Given the description of an element on the screen output the (x, y) to click on. 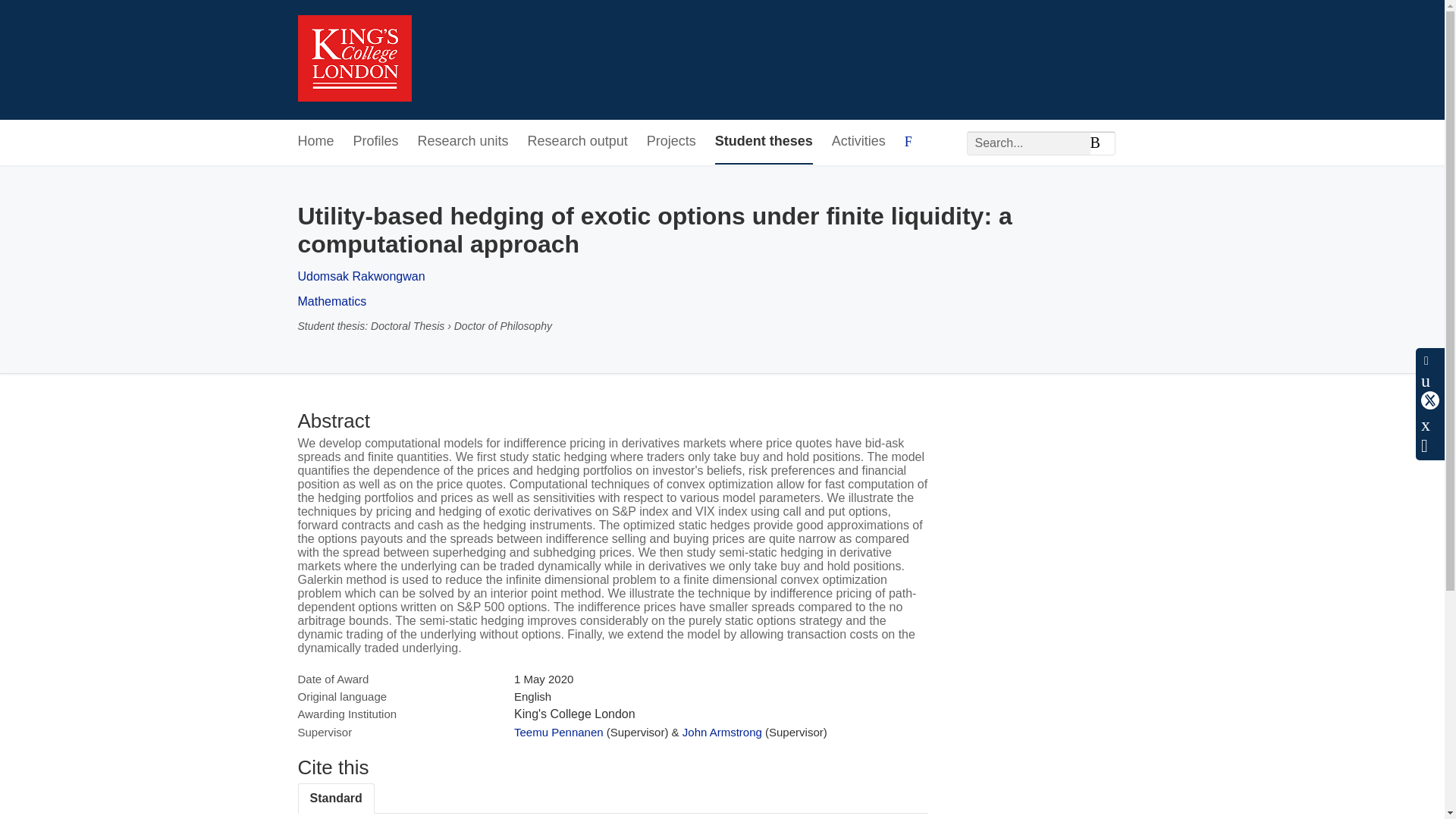
Projects (670, 141)
Activities (858, 141)
Profiles (375, 141)
Mathematics (331, 300)
King's College London Home (353, 59)
Student theses (763, 141)
Research units (462, 141)
Teemu Pennanen (558, 731)
John Armstrong (721, 731)
Udomsak Rakwongwan (361, 276)
Research output (577, 141)
